Given the description of an element on the screen output the (x, y) to click on. 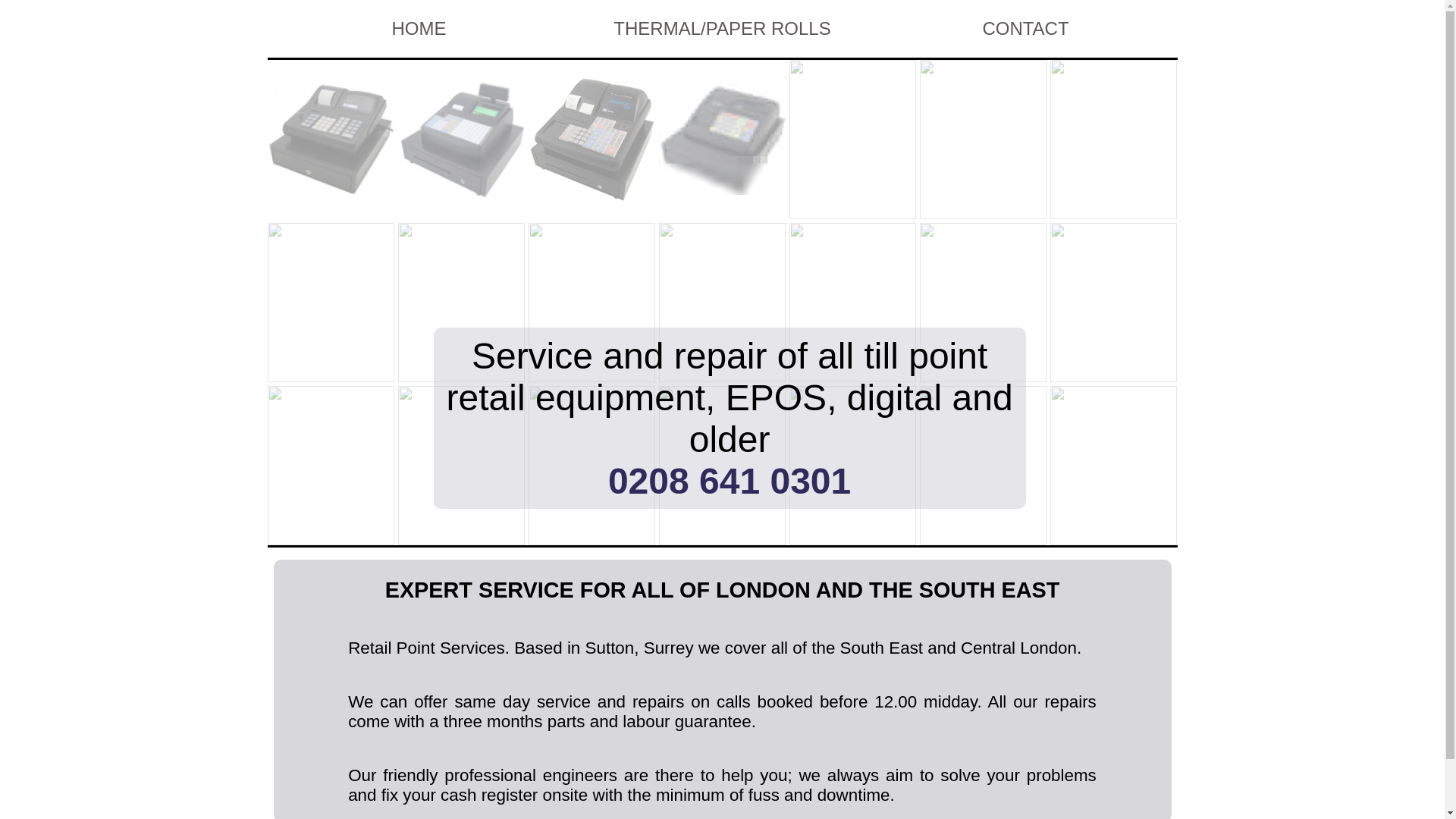
HOME (418, 28)
0208 641 0301 (729, 481)
CONTACT (1024, 28)
